Given the description of an element on the screen output the (x, y) to click on. 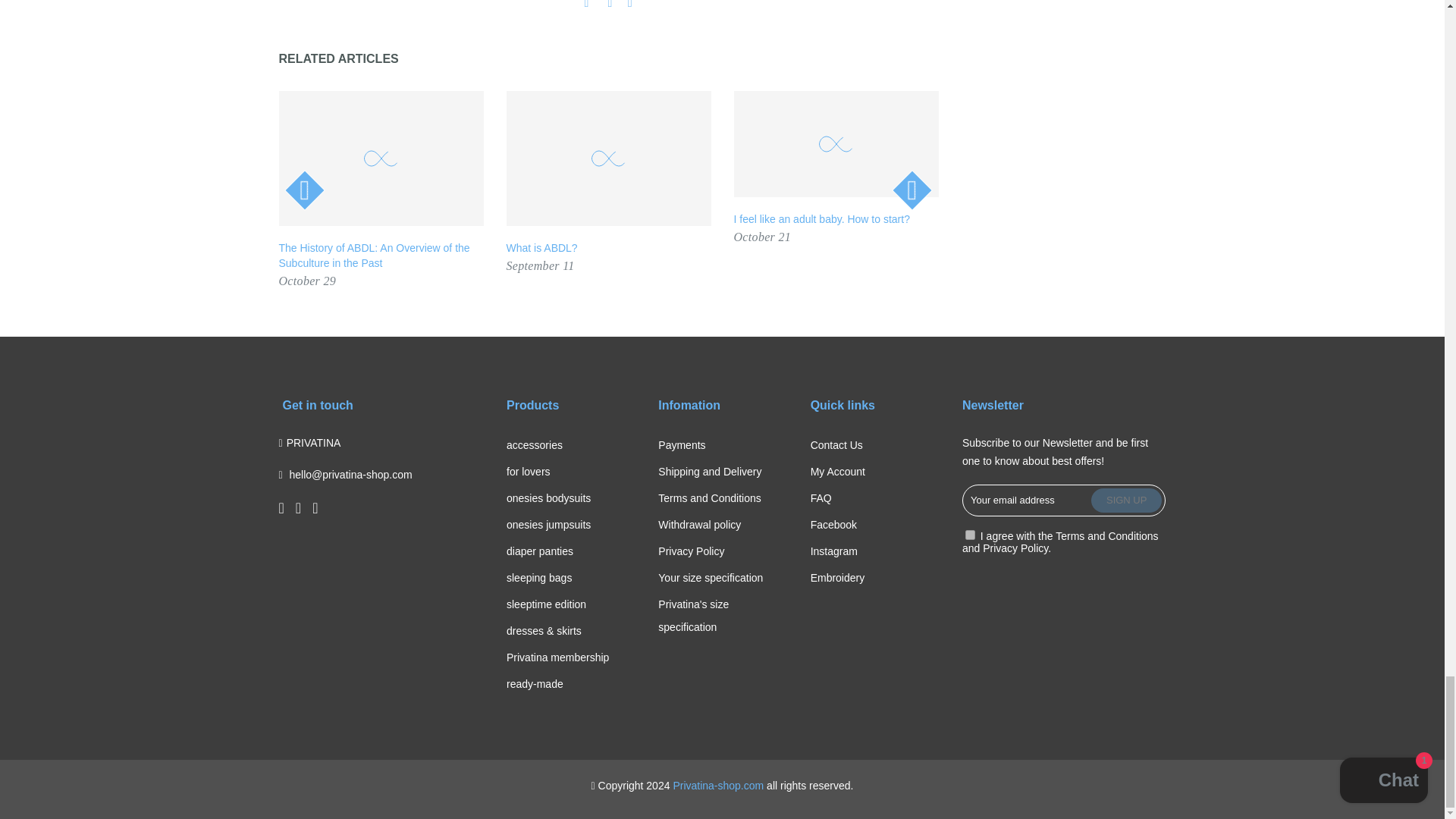
on (970, 534)
Sign up (1125, 500)
